Given the description of an element on the screen output the (x, y) to click on. 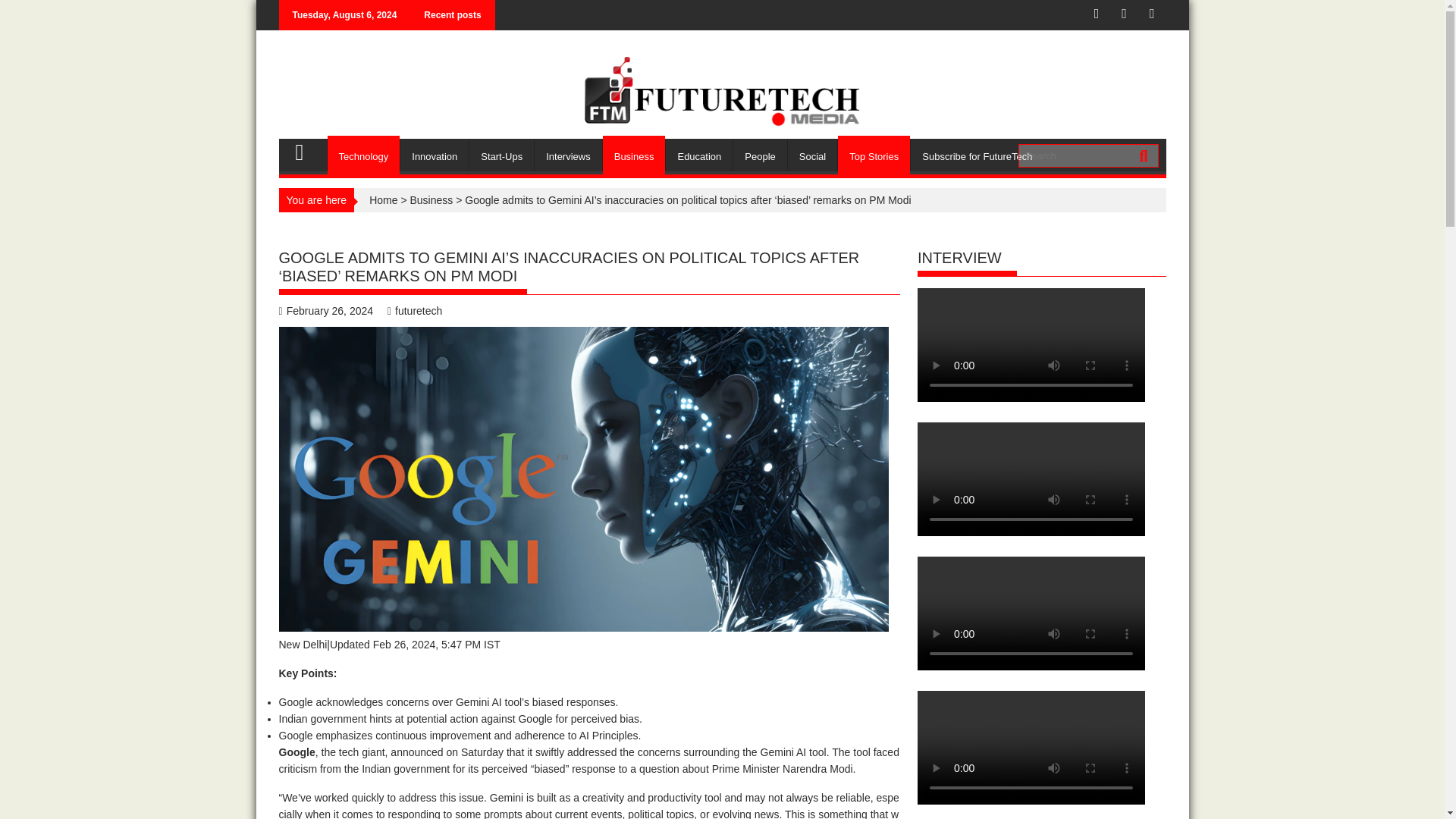
February 26, 2024 (326, 310)
Start-Ups (501, 156)
Business (633, 156)
FutureTech (306, 149)
Innovation (434, 156)
Subscribe for FutureTech (977, 156)
Top Stories (874, 156)
futuretech (414, 310)
Social (812, 156)
People (759, 156)
